Given the description of an element on the screen output the (x, y) to click on. 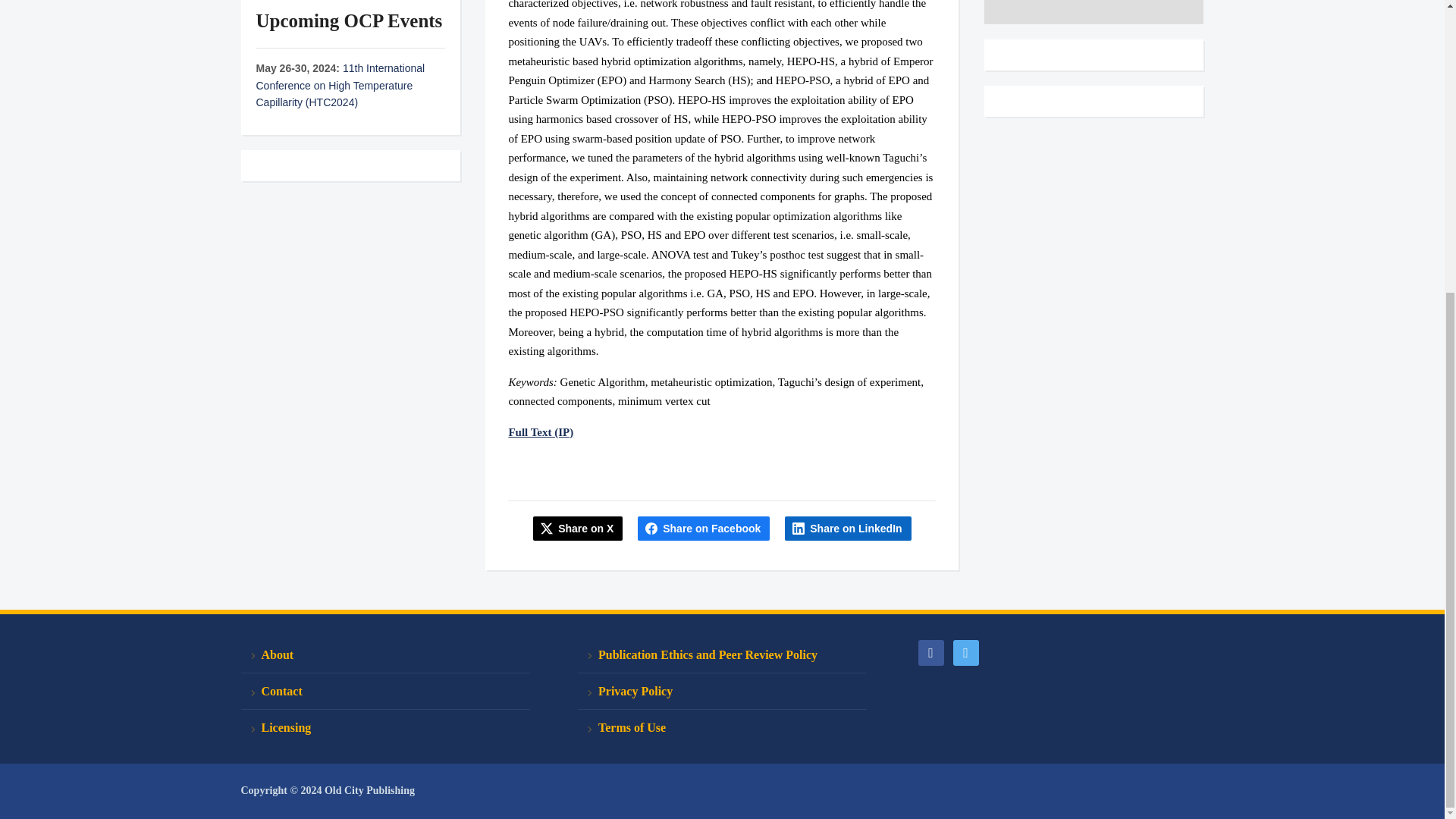
Friend me on Facebook (930, 651)
Share this on Facebook (703, 528)
Share on Facebook (703, 528)
Share this on X (577, 528)
facebook (930, 651)
Licensing (385, 727)
Follow Me (965, 651)
Publication Ethics and Peer Review Policy (722, 655)
About (385, 655)
Share on X (577, 528)
